Given the description of an element on the screen output the (x, y) to click on. 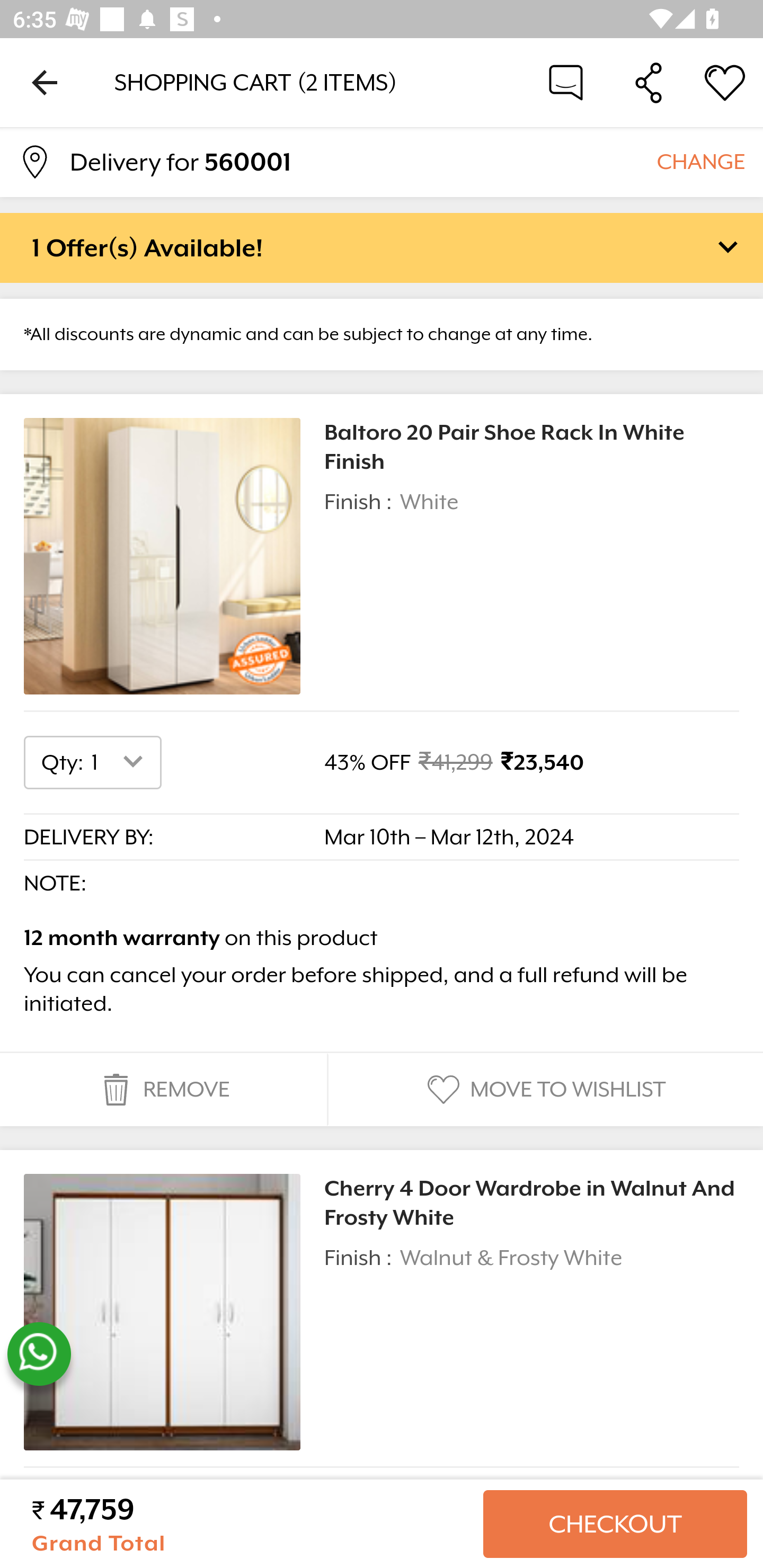
Navigate up (44, 82)
Chat (565, 81)
Share Cart (648, 81)
Wishlist (724, 81)
CHANGE (700, 161)
1 Offer(s) Available! (381, 247)
1 (121, 761)
REMOVE (163, 1089)
MOVE TO WISHLIST (544, 1089)
whatsapp (38, 1353)
CHECKOUT (614, 1523)
1 (121, 1518)
